Given the description of an element on the screen output the (x, y) to click on. 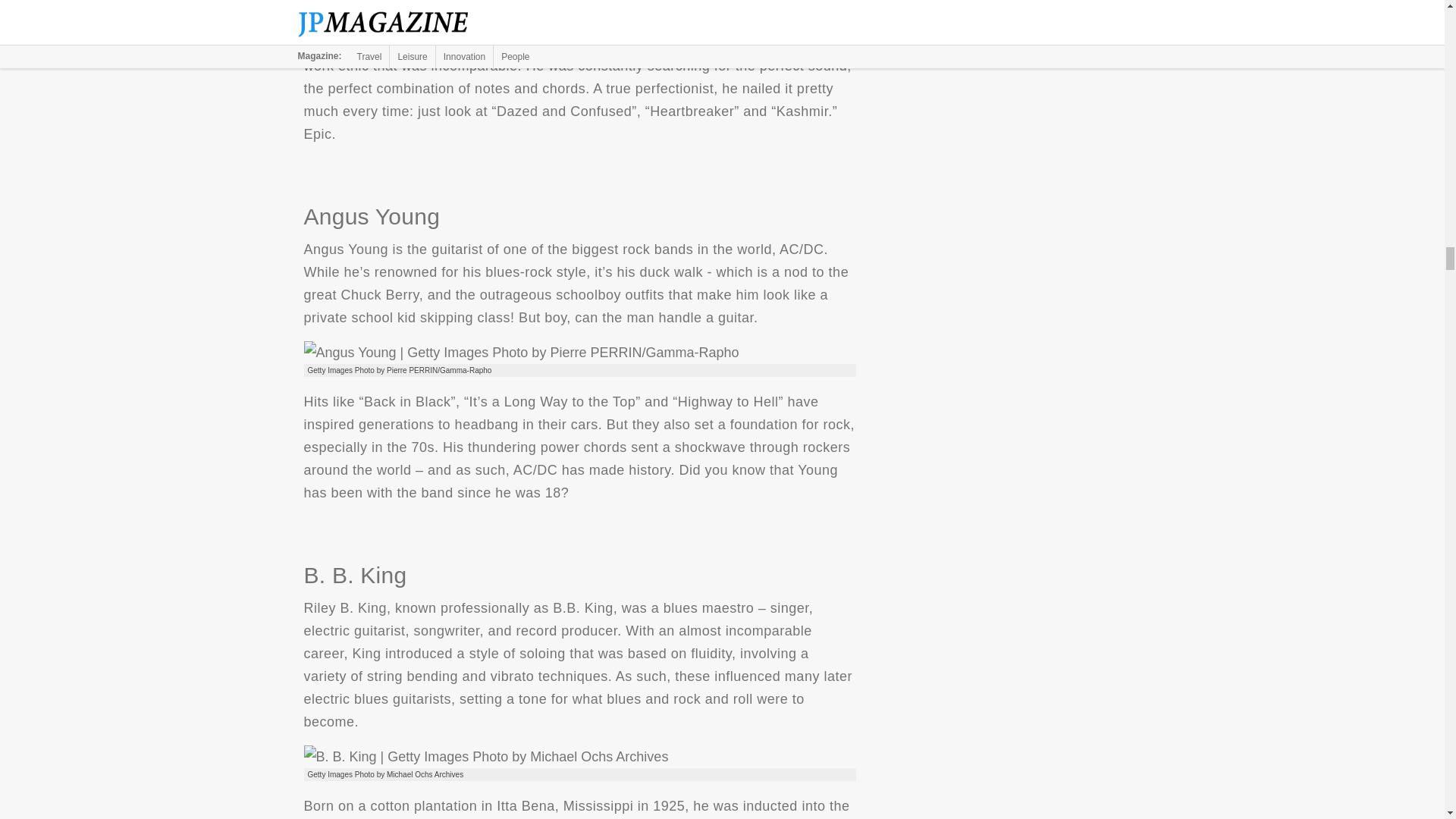
Angus Young (520, 352)
B. B. King (485, 756)
